Given the description of an element on the screen output the (x, y) to click on. 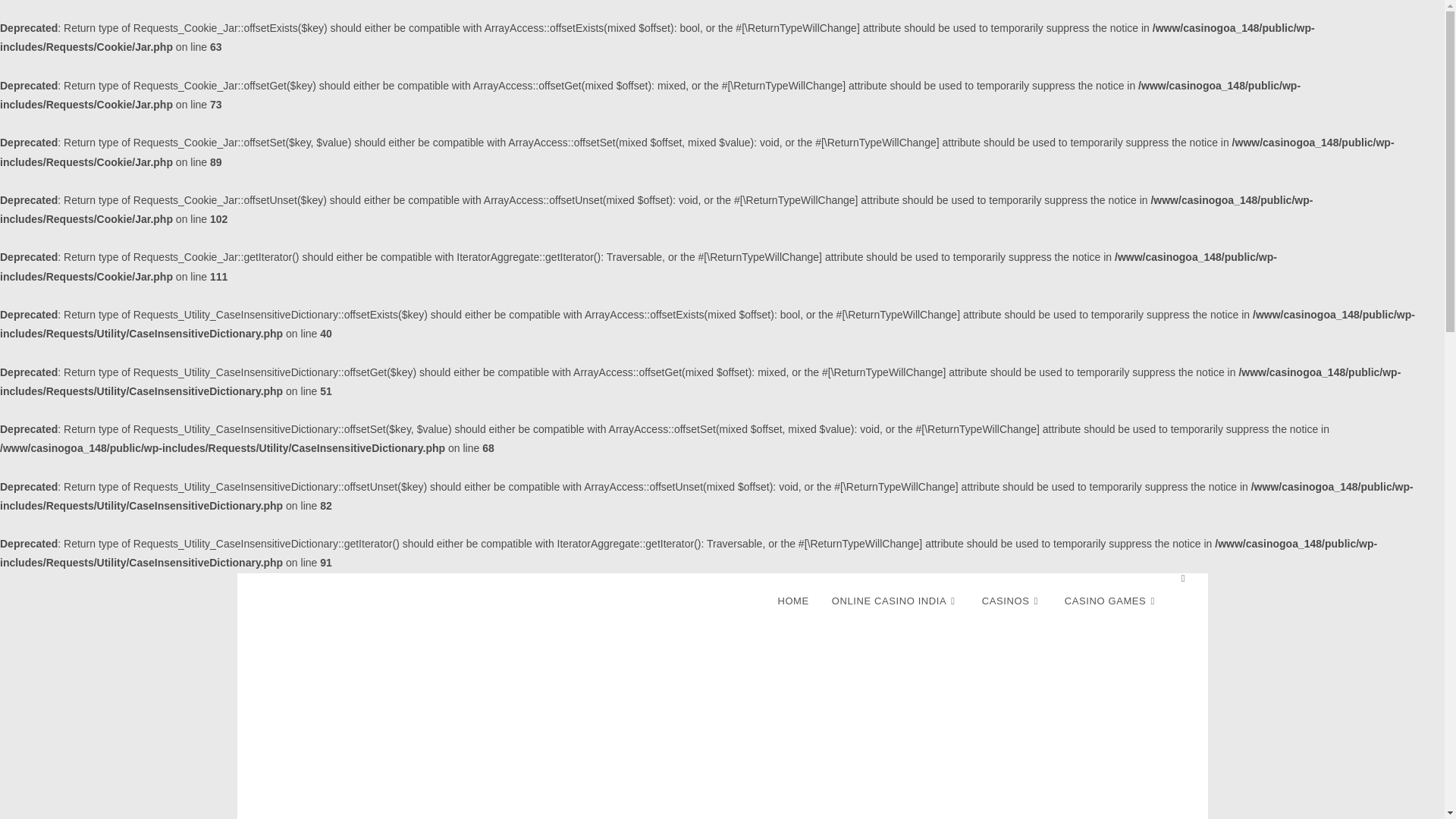
CASINOS (1011, 601)
ONLINE CASINO INDIA (896, 601)
HOME (792, 601)
